Given the description of an element on the screen output the (x, y) to click on. 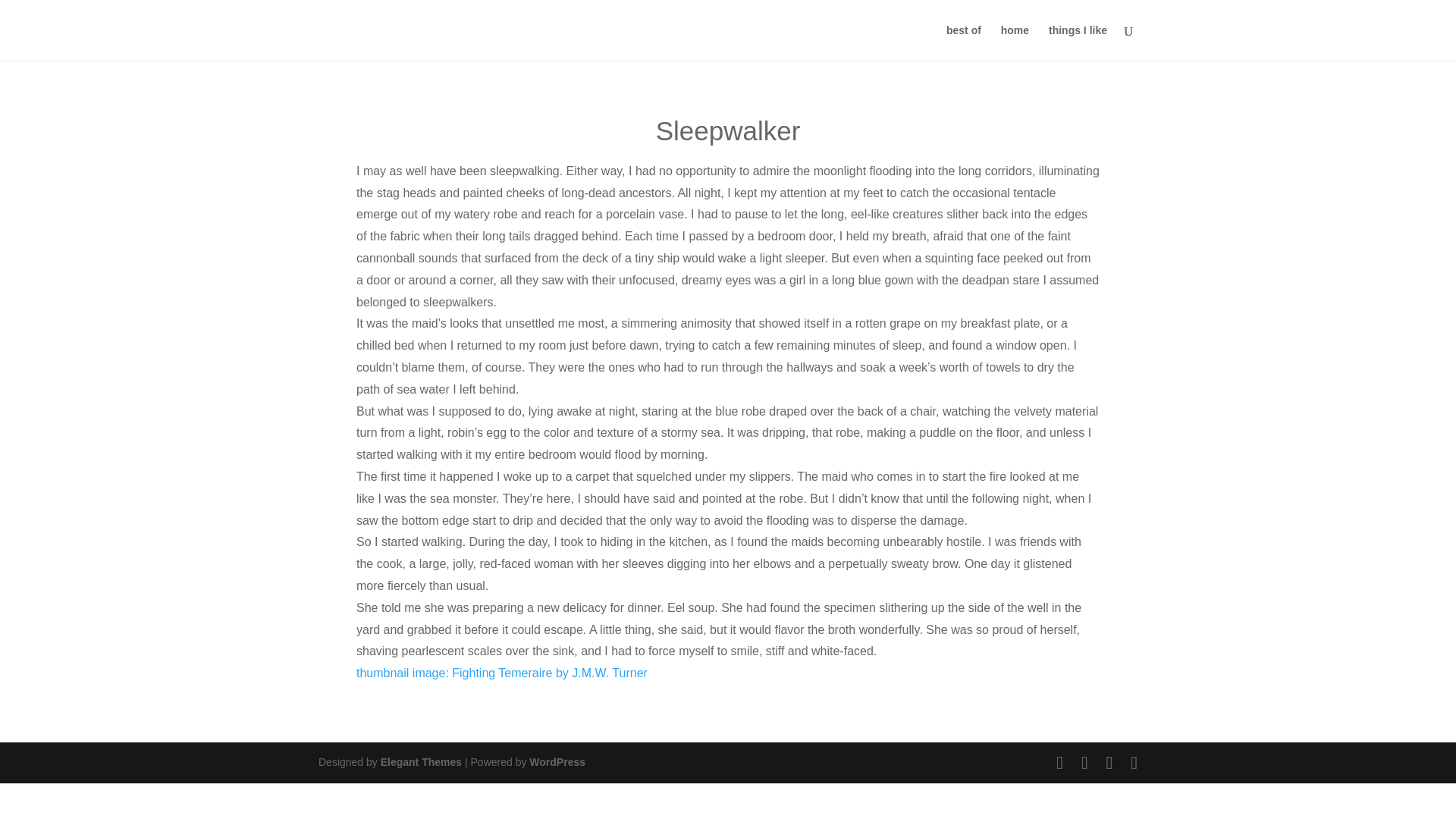
thumbnail image: Fighting Temeraire by J.M.W. Turner (501, 672)
best of (963, 42)
WordPress (557, 761)
Premium WordPress Themes (420, 761)
Elegant Themes (420, 761)
things I like (1077, 42)
